Given the description of an element on the screen output the (x, y) to click on. 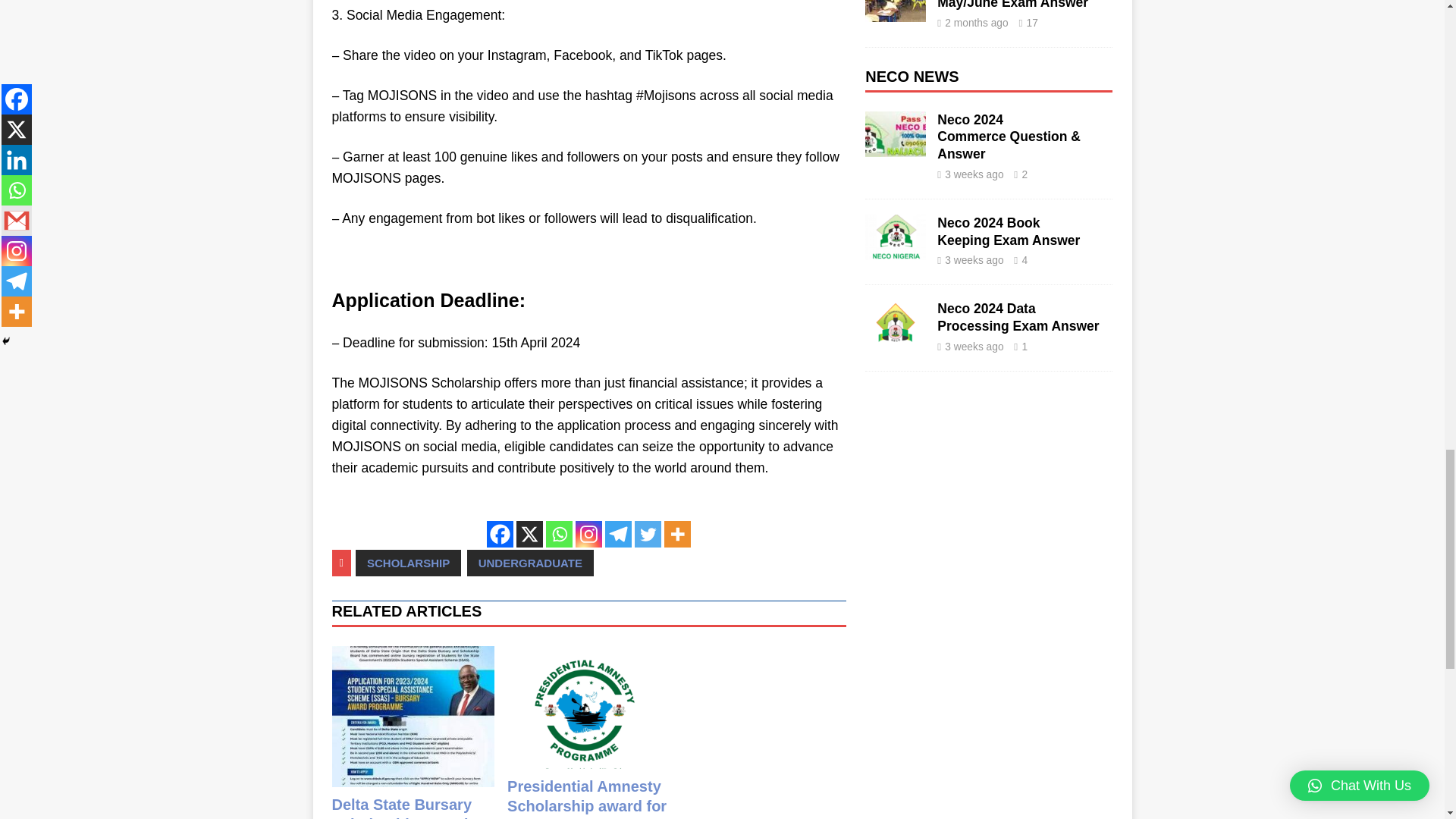
Whatsapp (559, 533)
Instagram (588, 533)
Facebook (499, 533)
X (529, 533)
